Given the description of an element on the screen output the (x, y) to click on. 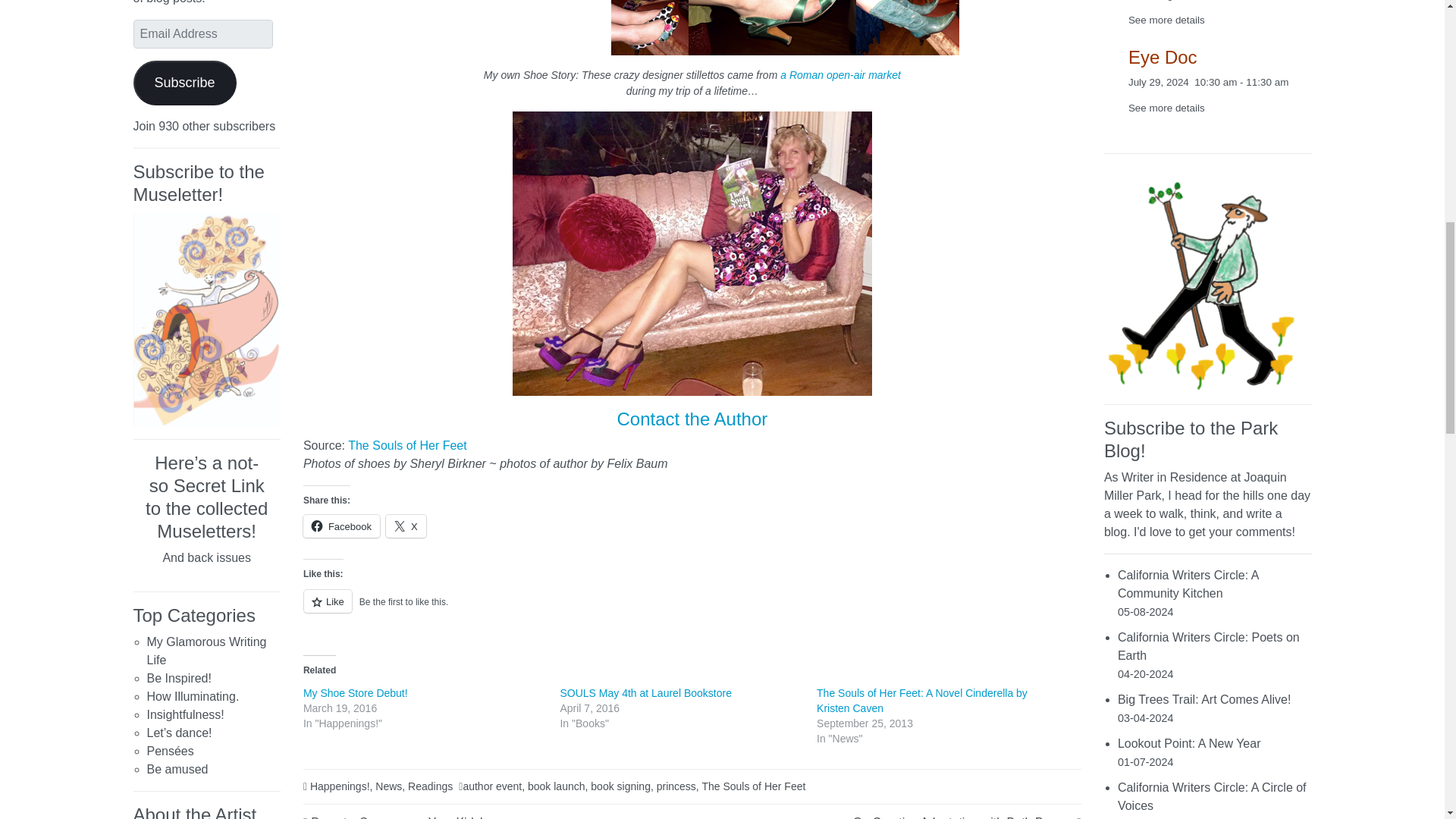
The Souls of Her Feet: A Novel Cinderella by Kristen Caven (921, 700)
SOULS May 4th at Laurel Bookstore (644, 693)
My Shoe Store Debut! (354, 693)
Click to share on X (405, 526)
Like or Reblog (691, 609)
Click to share on Facebook (341, 526)
